Given the description of an element on the screen output the (x, y) to click on. 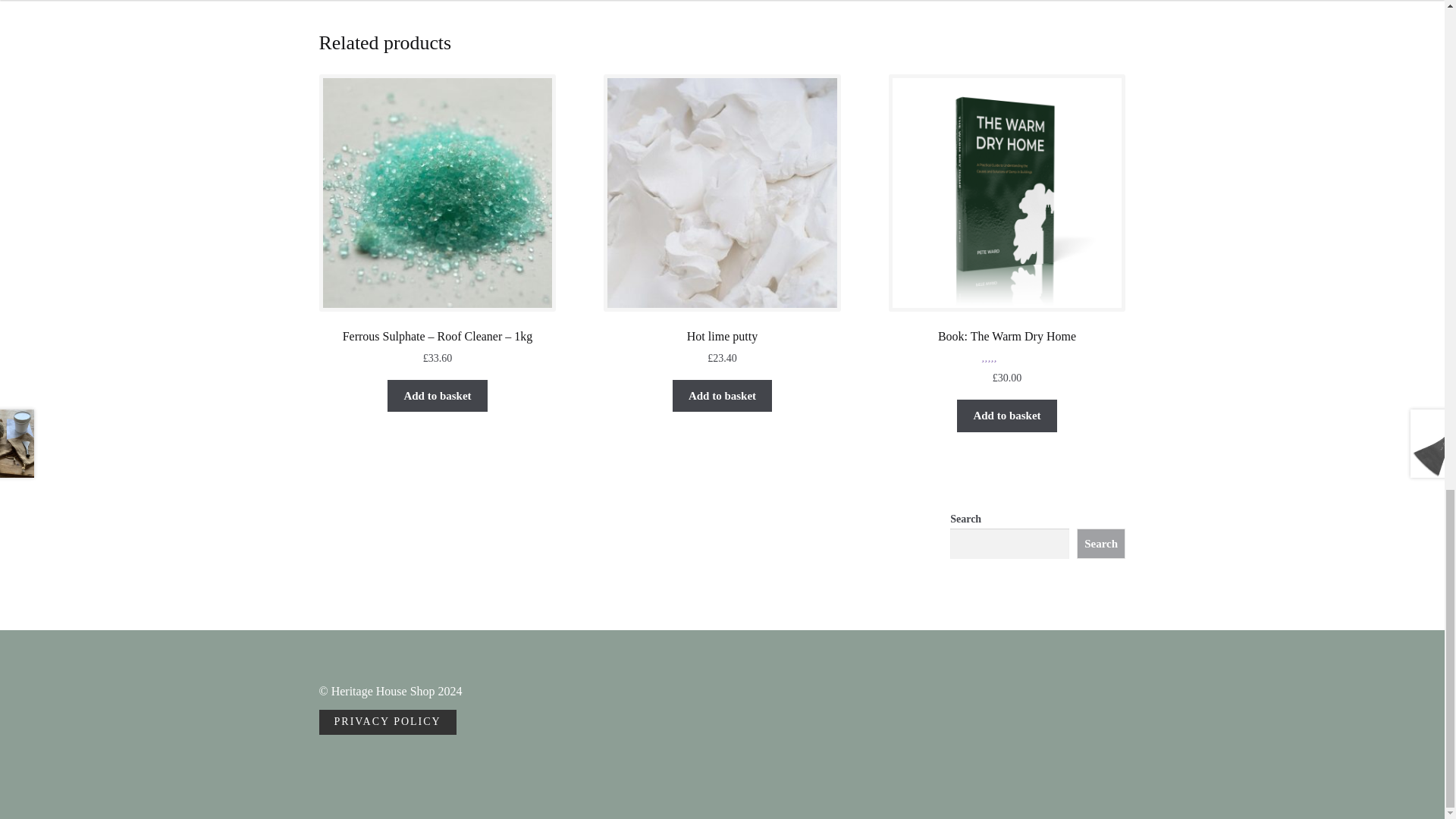
Add to basket (722, 396)
Add to basket (437, 396)
